Given the description of an element on the screen output the (x, y) to click on. 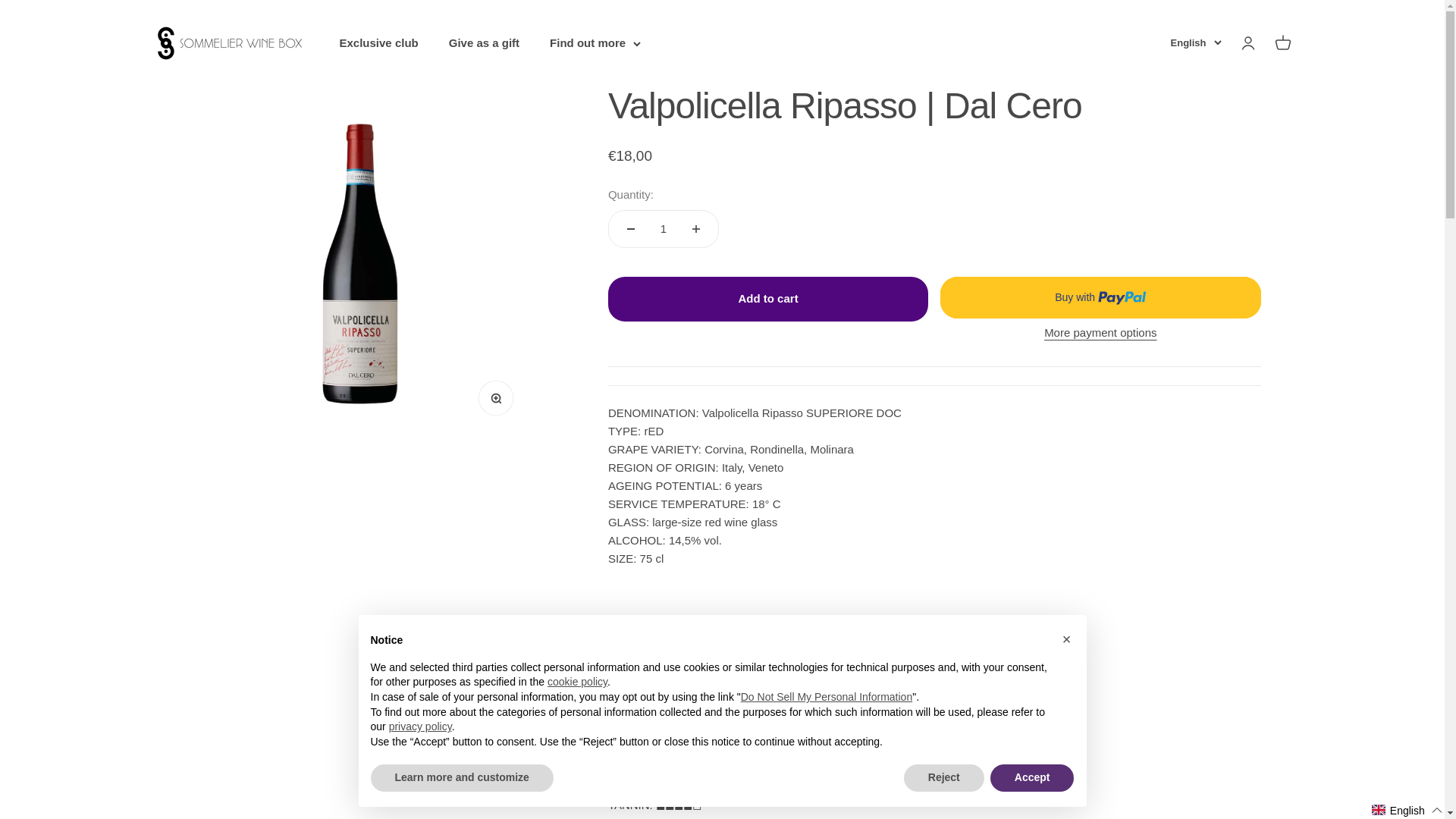
More payment options (1100, 332)
Open account page (1247, 43)
Exclusive club (379, 42)
Zoom (500, 402)
Give as a gift (1282, 43)
Sommelier Wine Box (483, 42)
Add to cart (230, 42)
English (768, 298)
1 (1195, 43)
